Given the description of an element on the screen output the (x, y) to click on. 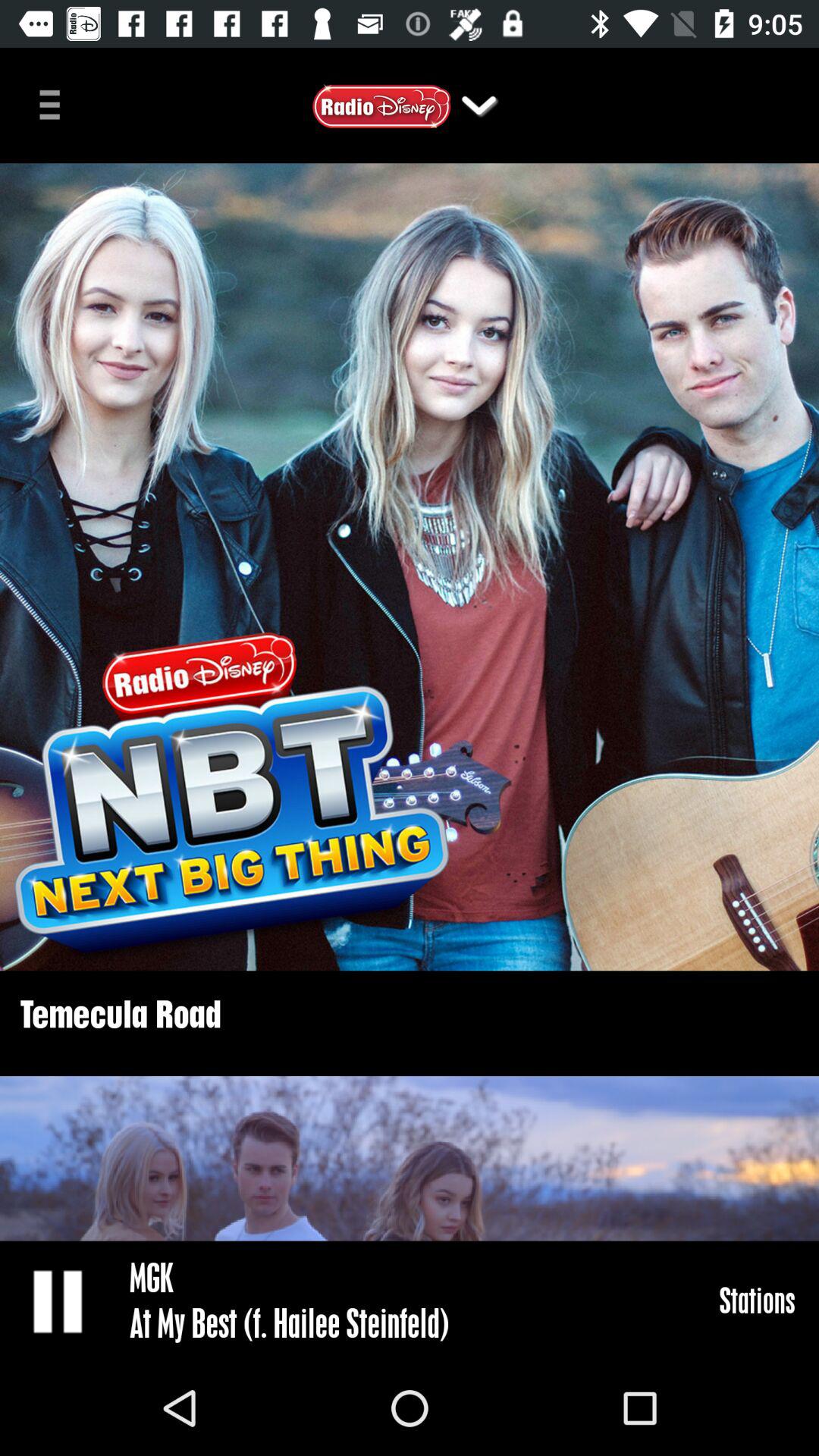
pause radio (59, 1300)
